Given the description of an element on the screen output the (x, y) to click on. 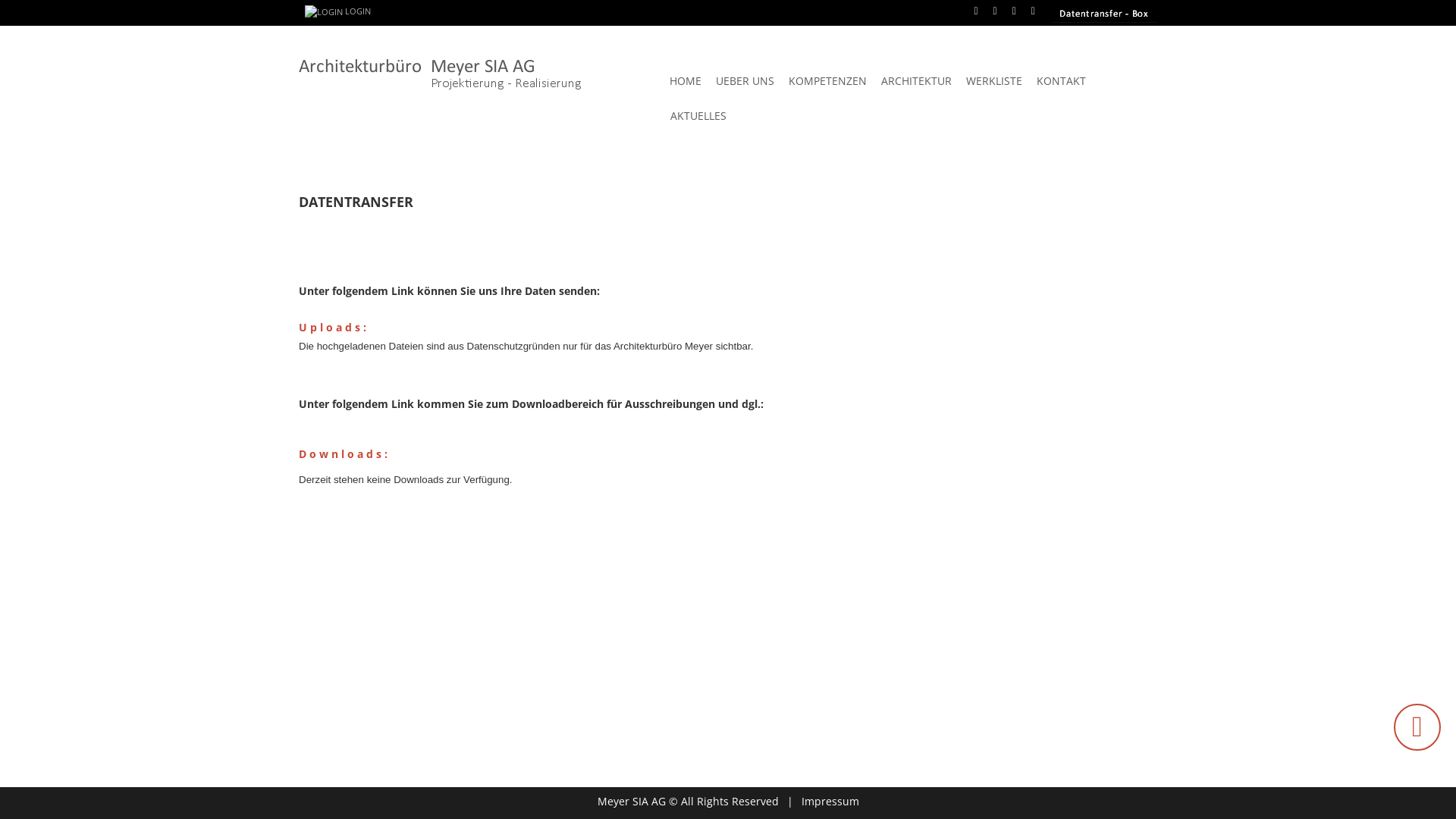
KONTAKT Element type: text (1060, 80)
Datentransfer Meyer SIA AG Element type: text (1103, 14)
LOGIN Element type: text (337, 11)
Impressum Element type: text (829, 800)
HOME Element type: text (685, 80)
D o w n l o a d s : Element type: text (344, 453)
UEBER UNS Element type: text (745, 80)
KOMPETENZEN Element type: text (827, 80)
WERKLISTE Element type: text (994, 80)
AKTUELLES Element type: text (698, 115)
U p l o a d s : Element type: text (332, 327)
ARCHITEKTUR Element type: text (916, 80)
